Given the description of an element on the screen output the (x, y) to click on. 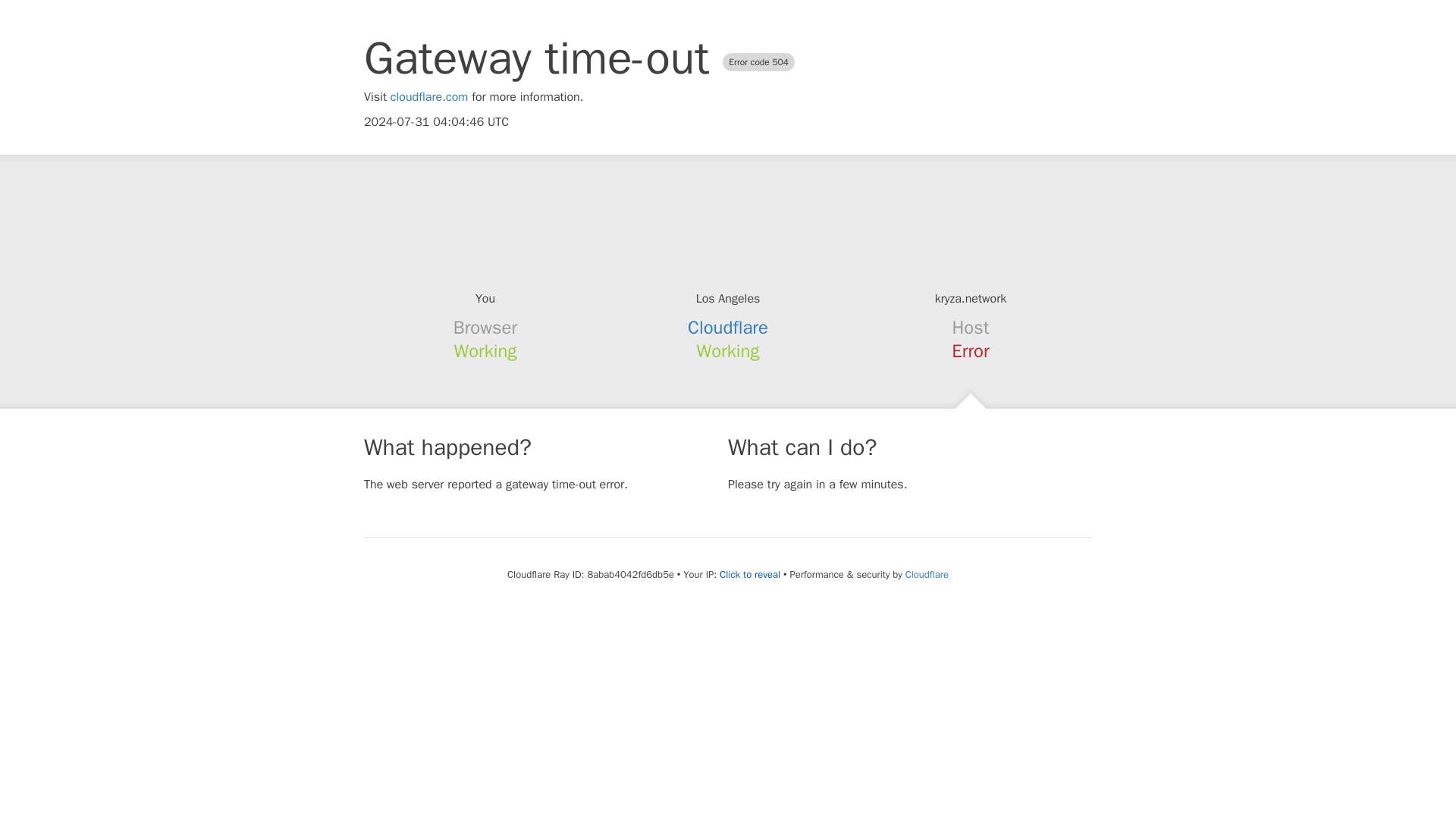
Click to reveal (749, 574)
Cloudflare (927, 574)
Cloudflare (727, 327)
cloudflare.com (429, 96)
